Given the description of an element on the screen output the (x, y) to click on. 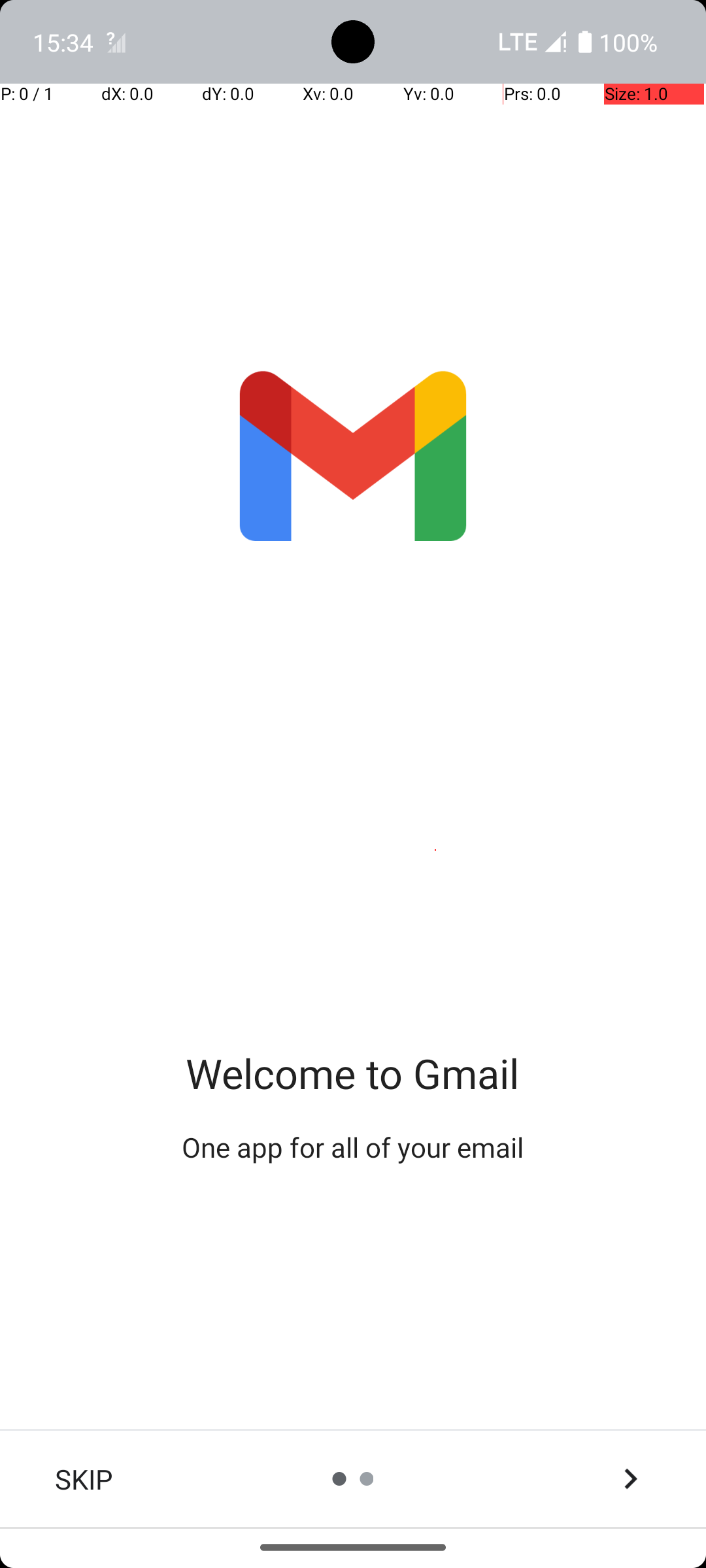
SKIP Element type: android.widget.TextView (83, 1478)
Welcome to Gmail Element type: android.widget.TextView (352, 1072)
One app for all of your email Element type: android.widget.TextView (352, 1146)
